Given the description of an element on the screen output the (x, y) to click on. 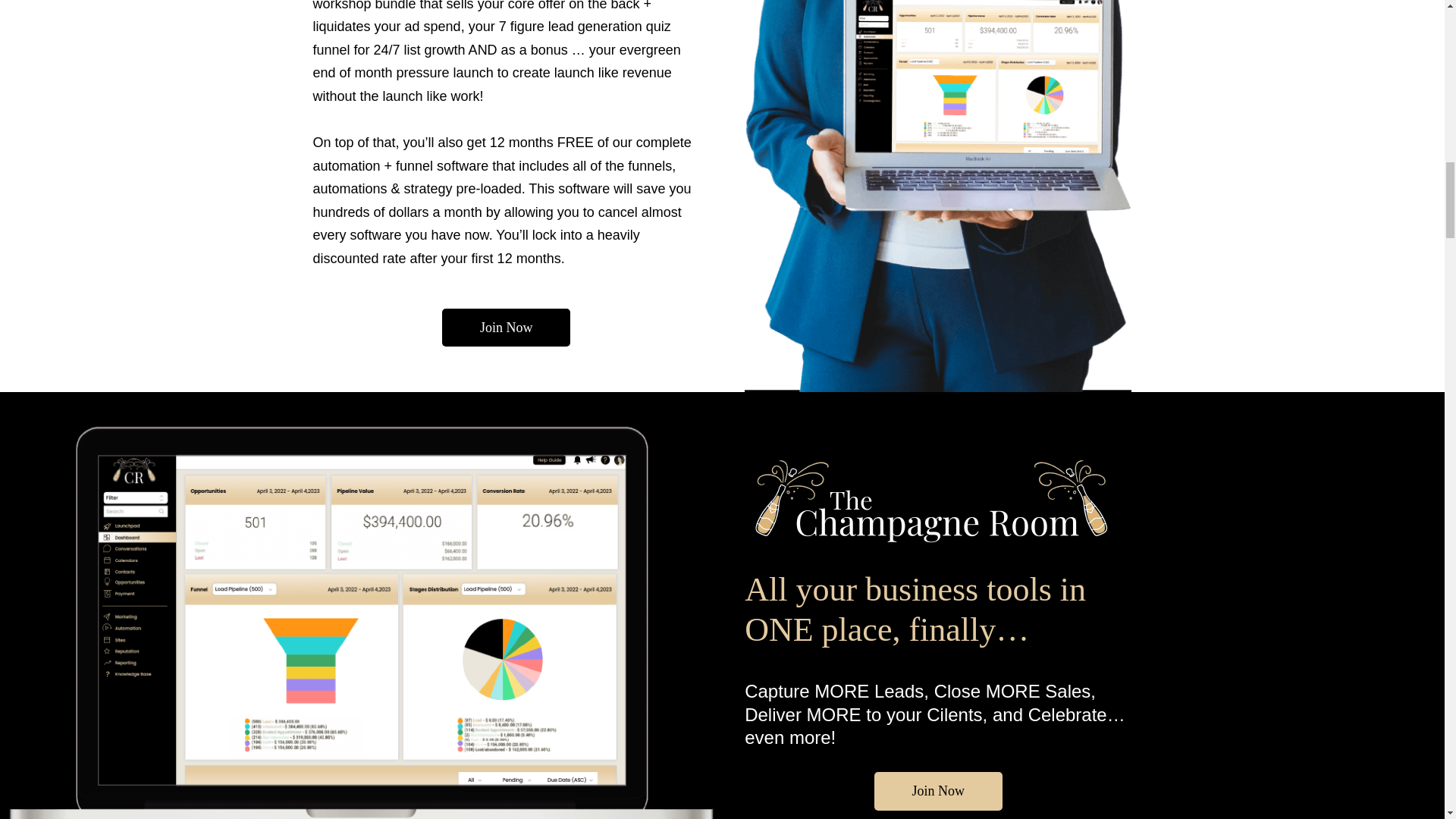
Join Now (939, 791)
Artboard 51 - Melissa Ricker (931, 500)
Join Now (506, 327)
